Given the description of an element on the screen output the (x, y) to click on. 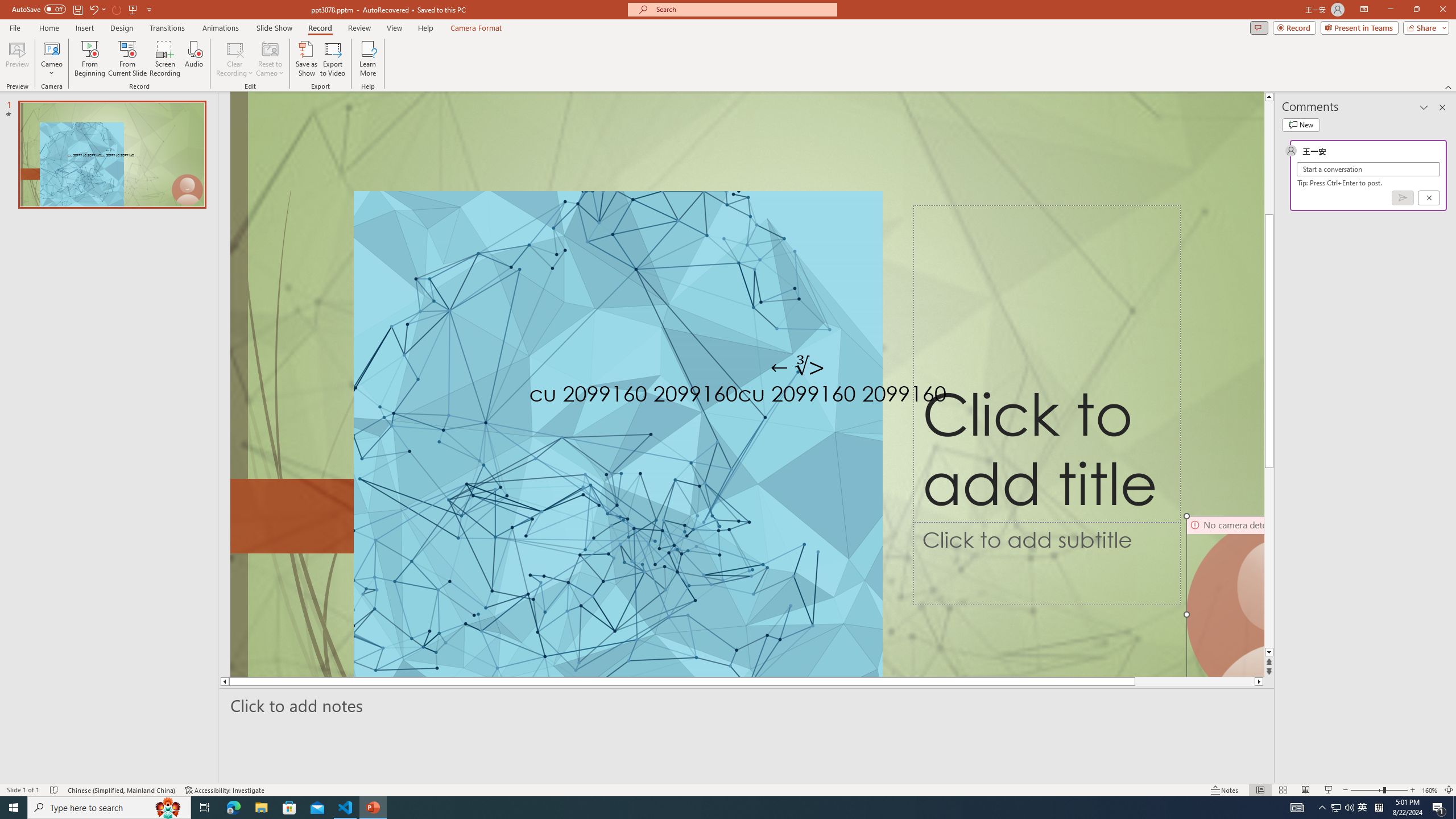
TextBox 7 (797, 367)
Zoom 160% (1430, 790)
